Given the description of an element on the screen output the (x, y) to click on. 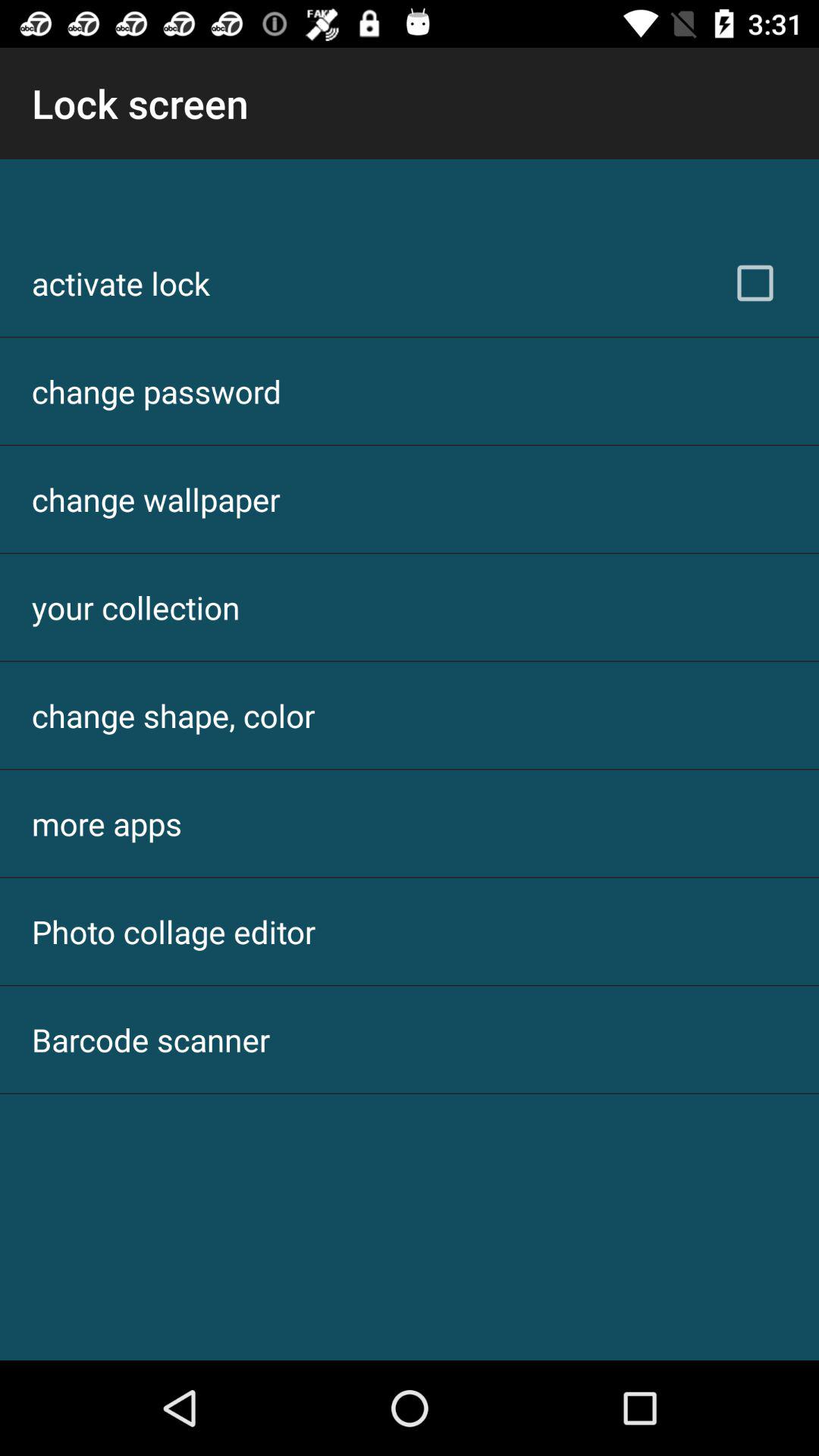
select the icon next to activate lock item (755, 283)
